Given the description of an element on the screen output the (x, y) to click on. 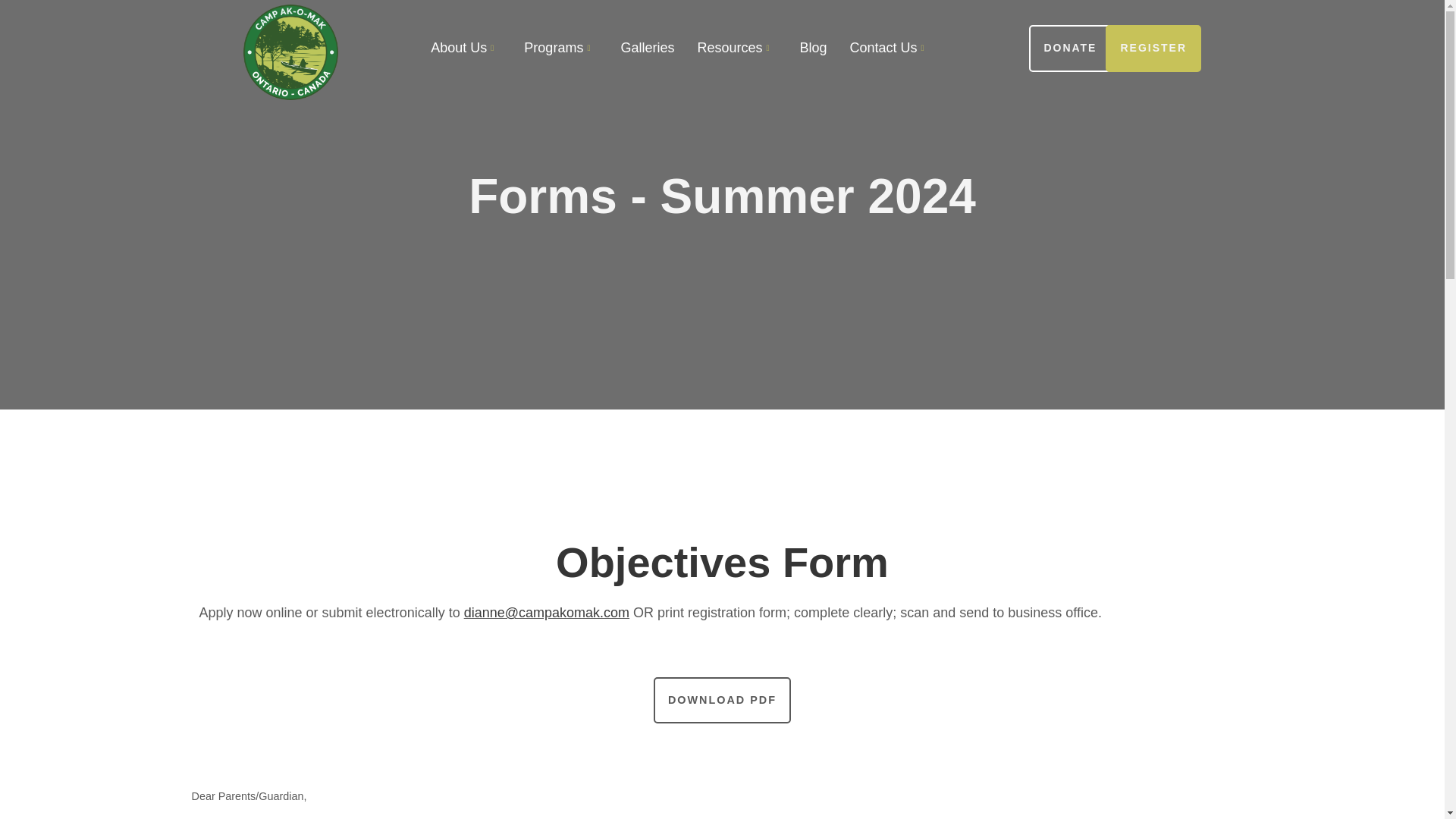
Resources (736, 48)
Blog (813, 48)
REGISTER (1153, 48)
Contact Us (890, 48)
DOWNLOAD PDF (721, 700)
Galleries (646, 48)
DONATE (1069, 48)
Programs (560, 48)
About Us (465, 48)
